Given the description of an element on the screen output the (x, y) to click on. 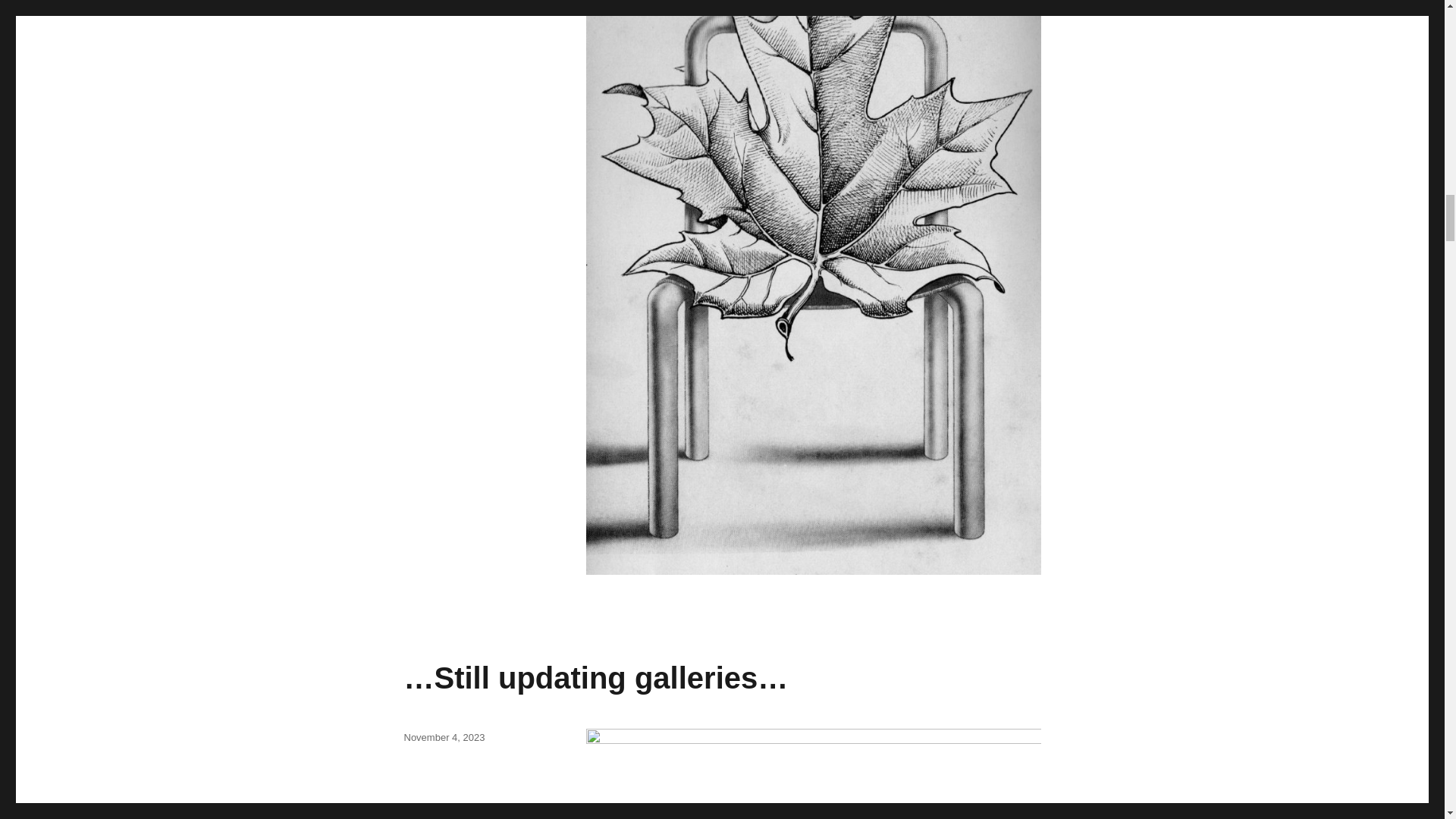
November 4, 2023 (443, 737)
